Given the description of an element on the screen output the (x, y) to click on. 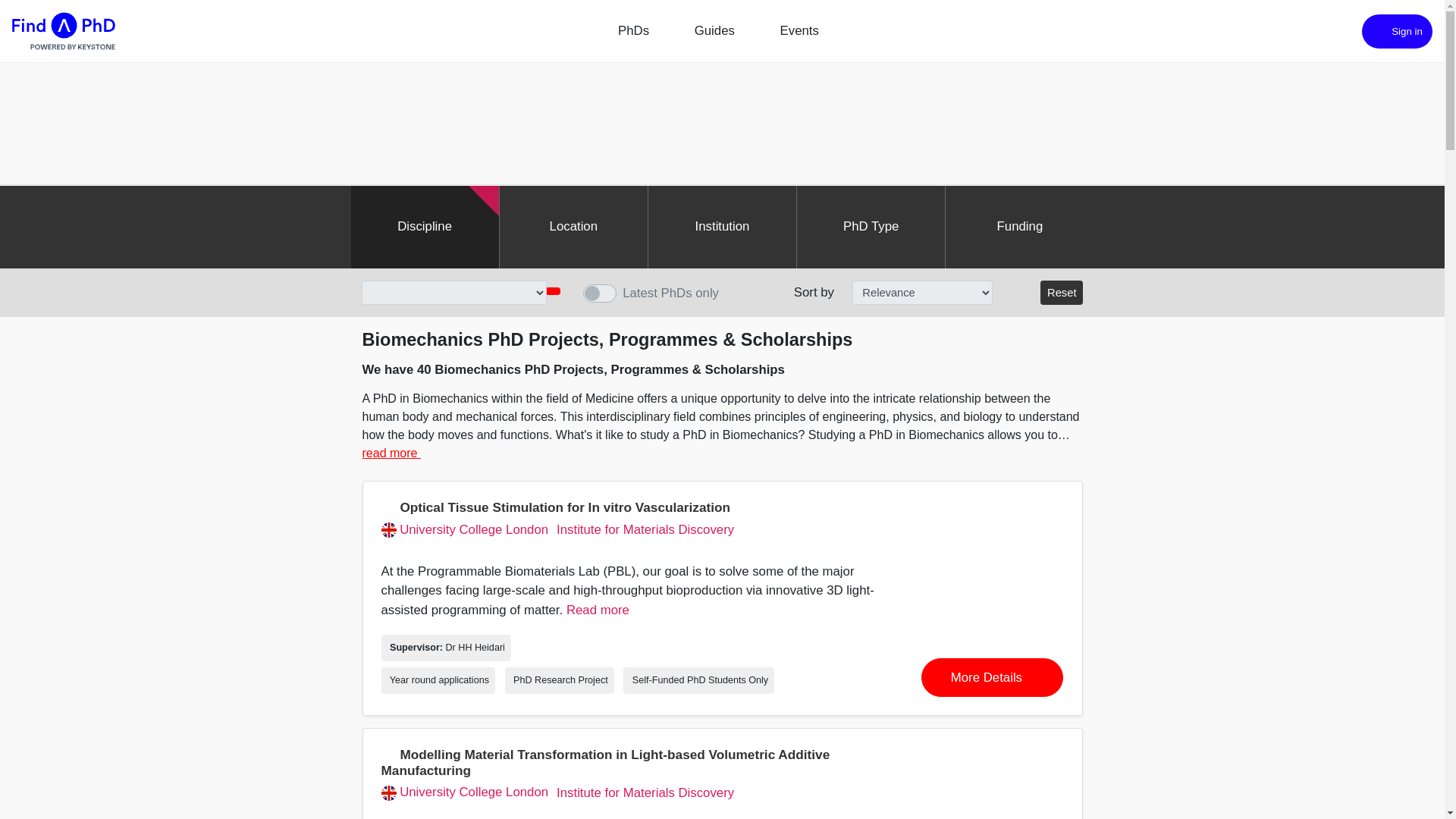
United Kingdom (388, 529)
United Kingdom (388, 792)
PhD Opportunities at University College London (464, 792)
FindAPhD.com (63, 31)
PhD Opportunities at University College London (464, 530)
Clear all search filters (1062, 292)
